Given the description of an element on the screen output the (x, y) to click on. 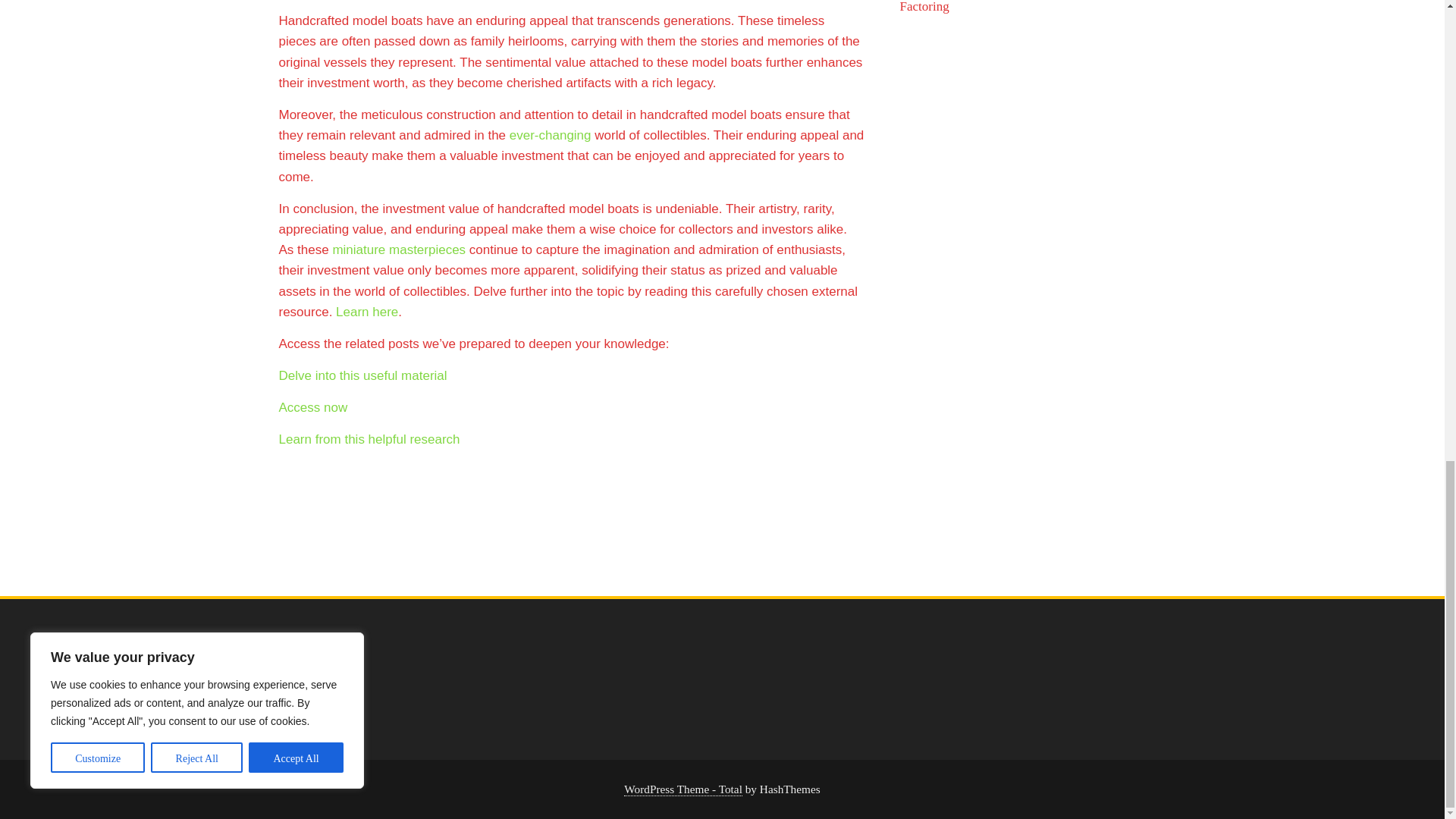
Learn from this helpful research (369, 439)
Access now (313, 407)
miniature masterpieces (398, 249)
ever-changing (550, 134)
Delve into this useful material (362, 375)
Learn here (366, 311)
